Given the description of an element on the screen output the (x, y) to click on. 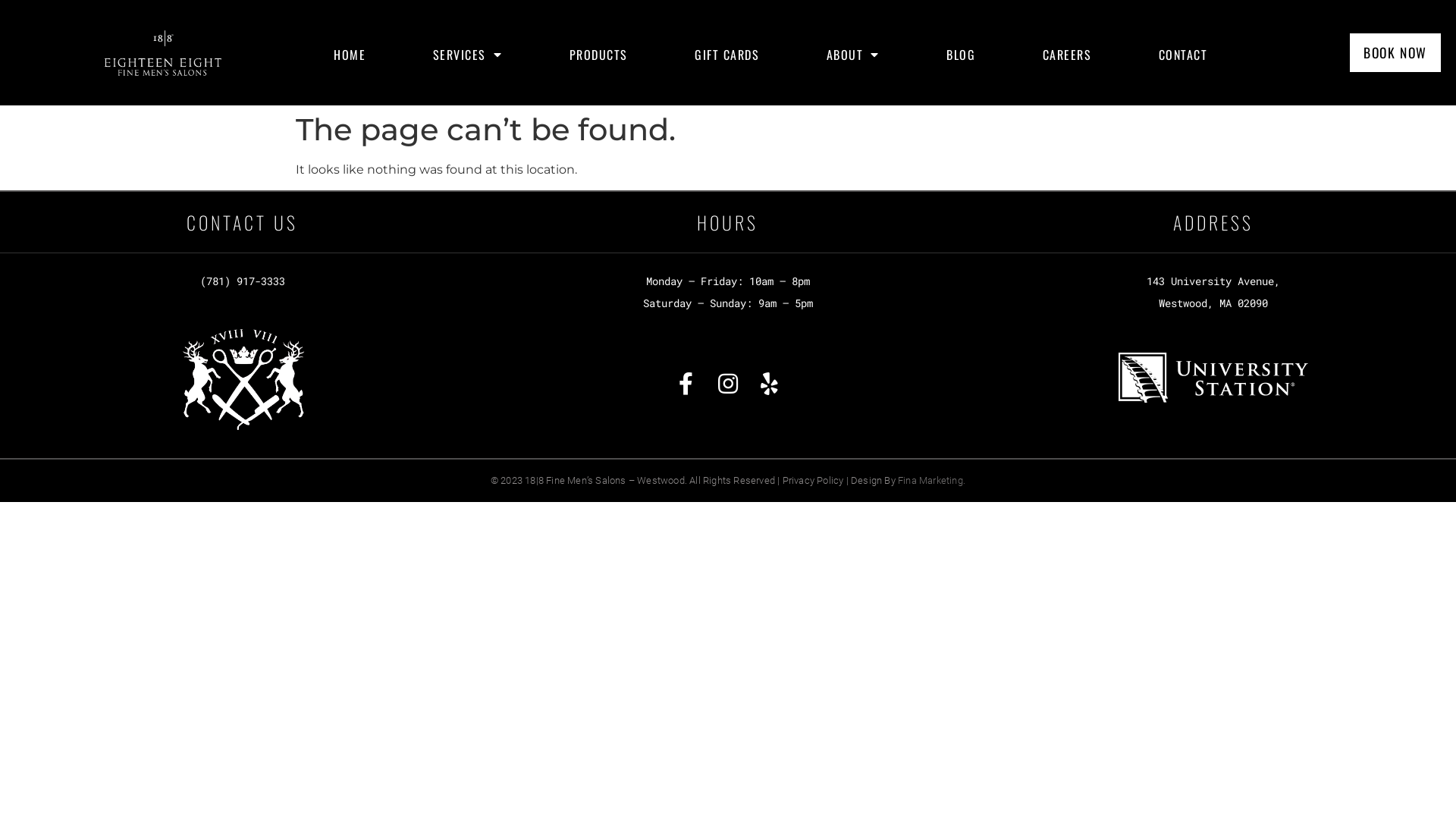
CONTACT Element type: text (1183, 54)
GIFT CARDS Element type: text (727, 54)
BOOK NOW Element type: text (1394, 52)
SERVICES Element type: text (467, 54)
PRODUCTS Element type: text (599, 54)
CAREERS Element type: text (1067, 54)
HOME Element type: text (349, 54)
BLOG Element type: text (961, 54)
ABOUT Element type: text (853, 54)
Fina Marketing. Element type: text (931, 480)
